Given the description of an element on the screen output the (x, y) to click on. 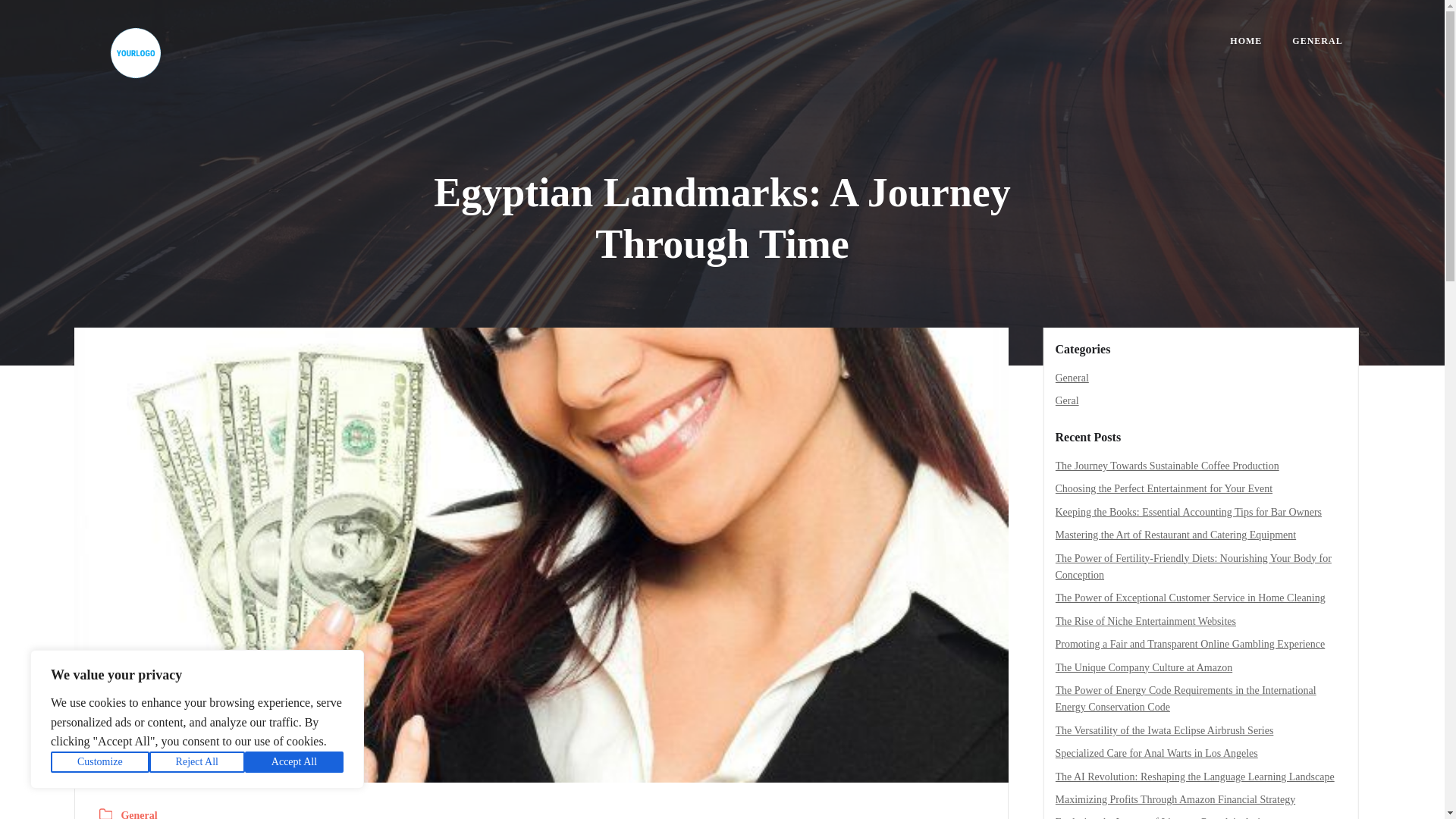
GENERAL (1317, 40)
Geral (1066, 400)
Customize (99, 762)
General (138, 813)
The Journey Towards Sustainable Coffee Production (1167, 465)
HOME (1246, 40)
Accept All (293, 762)
Reject All (196, 762)
General (1072, 378)
Choosing the Perfect Entertainment for Your Event (1163, 488)
